Given the description of an element on the screen output the (x, y) to click on. 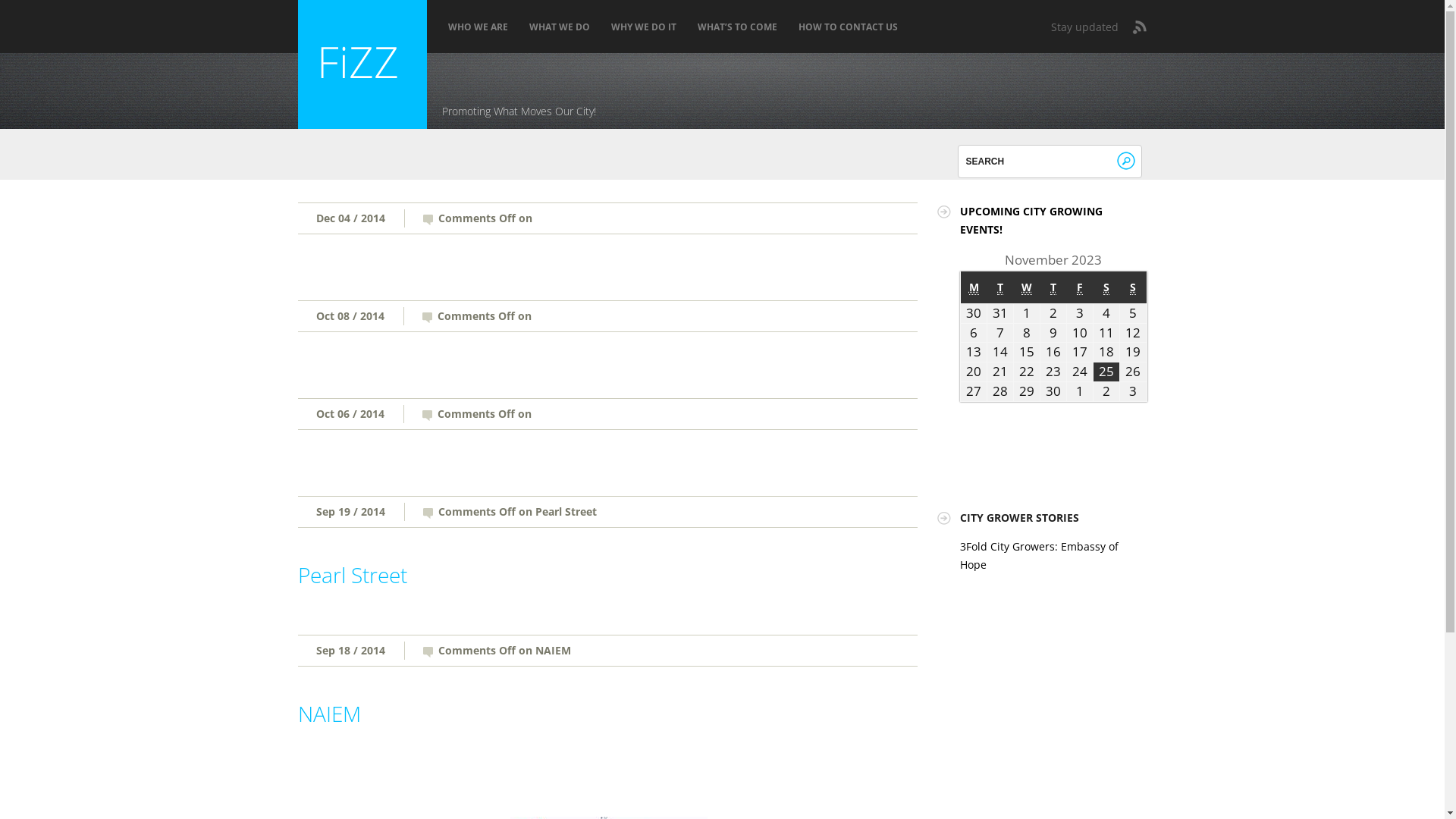
WHAT WE DO Element type: text (559, 26)
WHO WE ARE Element type: text (477, 26)
WHY WE DO IT Element type: text (643, 26)
3Fold City Growers: Embassy of Hope Element type: text (1039, 555)
HOW TO CONTACT US Element type: text (847, 26)
Pearl Street Element type: text (351, 573)
NAIEM Element type: text (328, 713)
RSS Element type: hover (1138, 26)
UPCOMING CITY GROWING EVENTS! Element type: text (1031, 219)
